Given the description of an element on the screen output the (x, y) to click on. 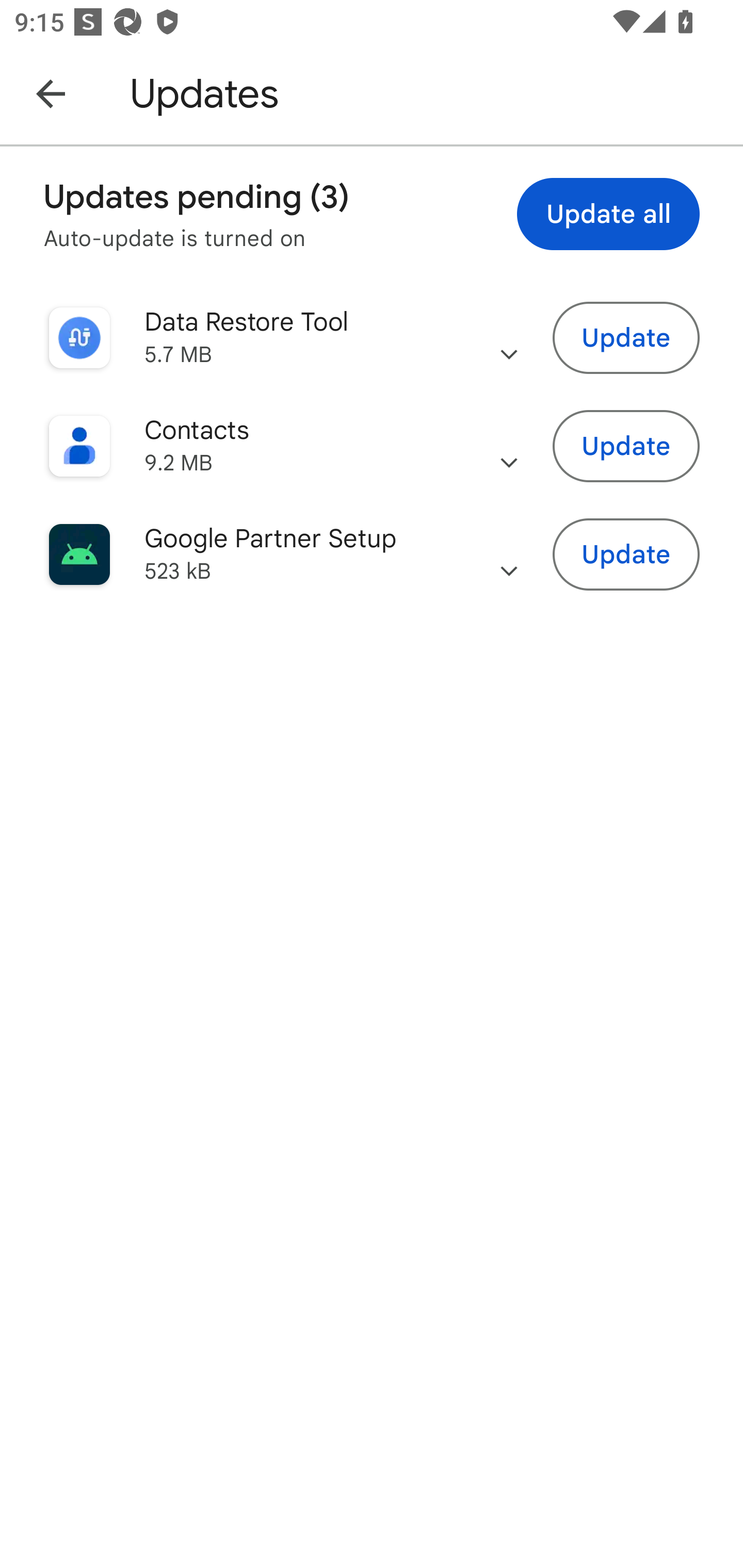
Navigate up (50, 92)
Update all (608, 213)
Changes in the app (508, 337)
Update (625, 337)
Changes in the app (508, 446)
Update (625, 446)
Changes in the app (508, 554)
Update (625, 555)
